Given the description of an element on the screen output the (x, y) to click on. 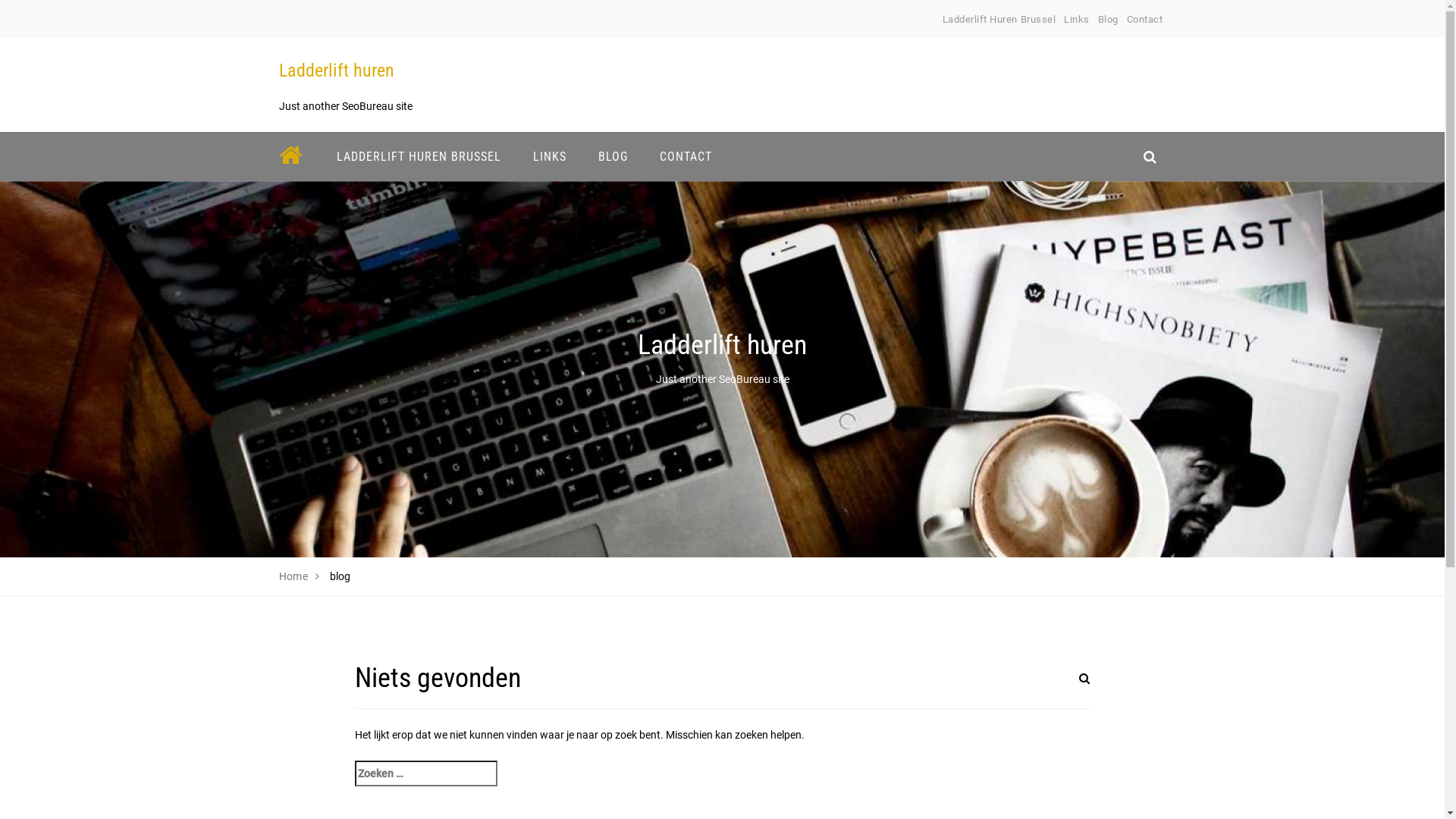
Ladderlift Huren Brussel Element type: text (998, 19)
Blog Element type: text (1108, 19)
Contact Element type: text (1144, 19)
Zoeken Element type: text (1066, 687)
LADDERLIFT HUREN BRUSSEL Element type: text (418, 156)
LINKS Element type: text (549, 156)
Home Element type: text (293, 576)
Ladderlift huren Element type: text (336, 70)
CONTACT Element type: text (685, 156)
search_icon Element type: hover (1148, 156)
BLOG Element type: text (612, 156)
Links Element type: text (1076, 19)
